Given the description of an element on the screen output the (x, y) to click on. 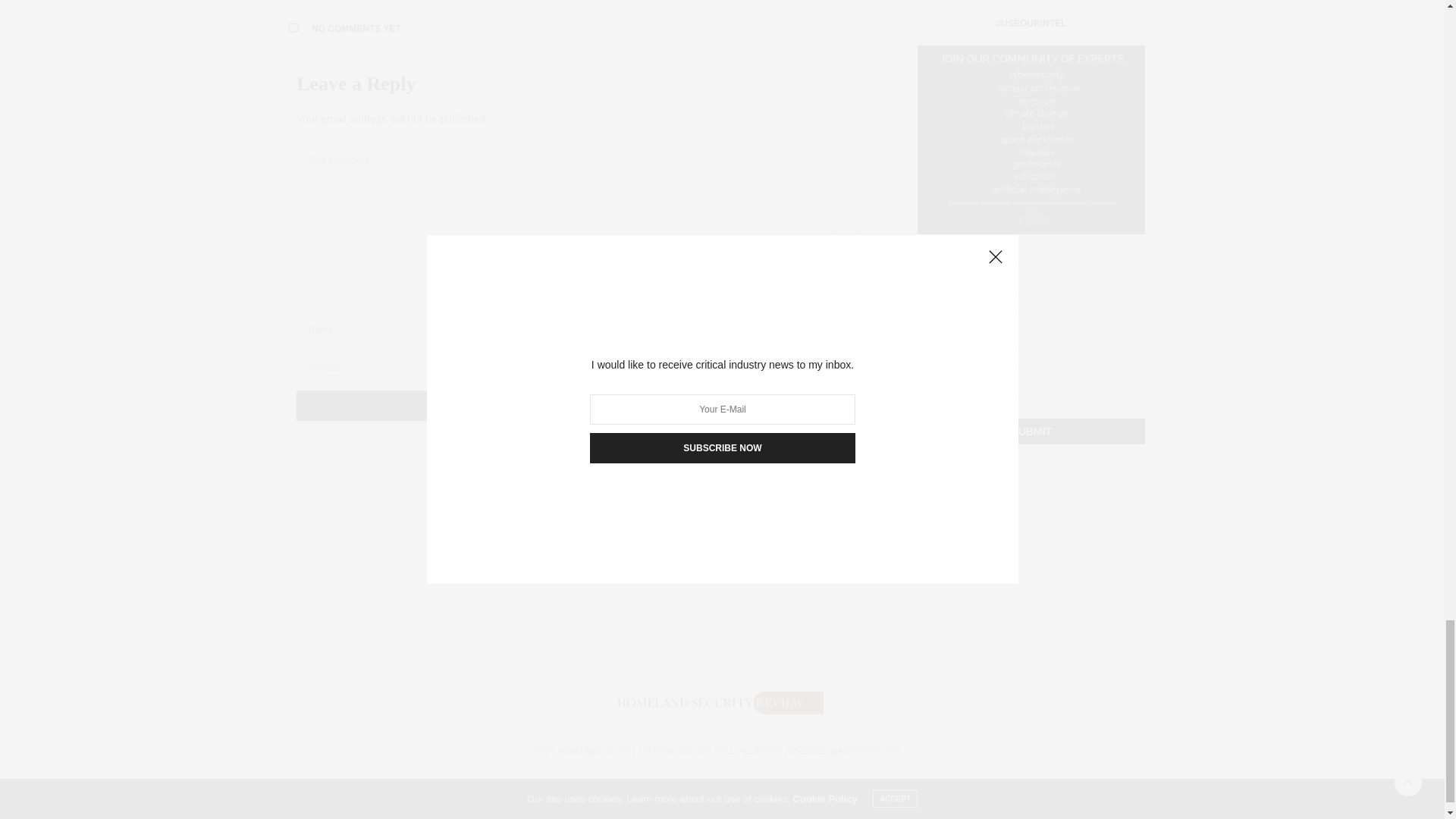
Submit Comment (564, 405)
NO COMMENTS YET (564, 28)
